Given the description of an element on the screen output the (x, y) to click on. 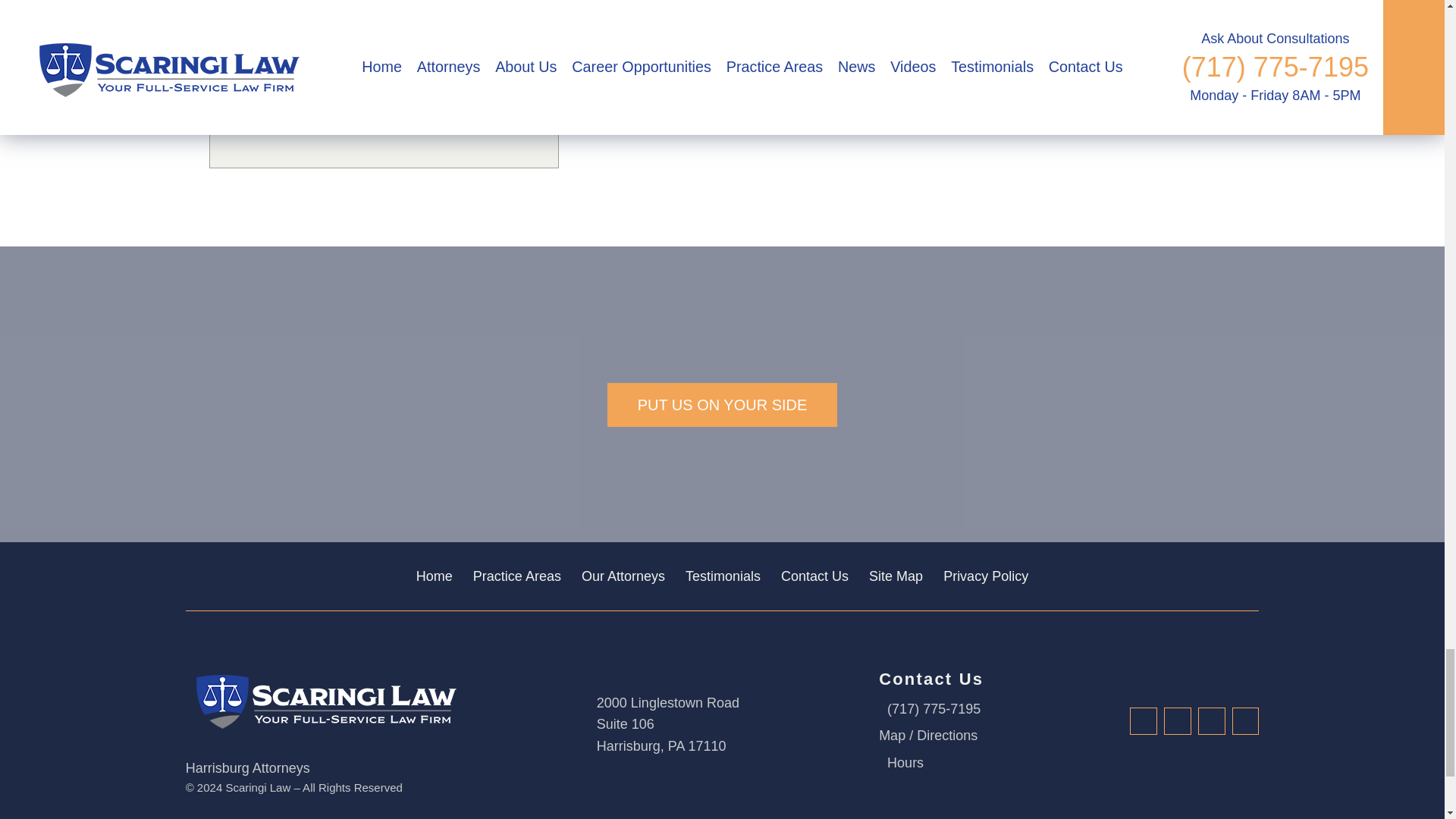
Scaringi Law (321, 698)
